Given the description of an element on the screen output the (x, y) to click on. 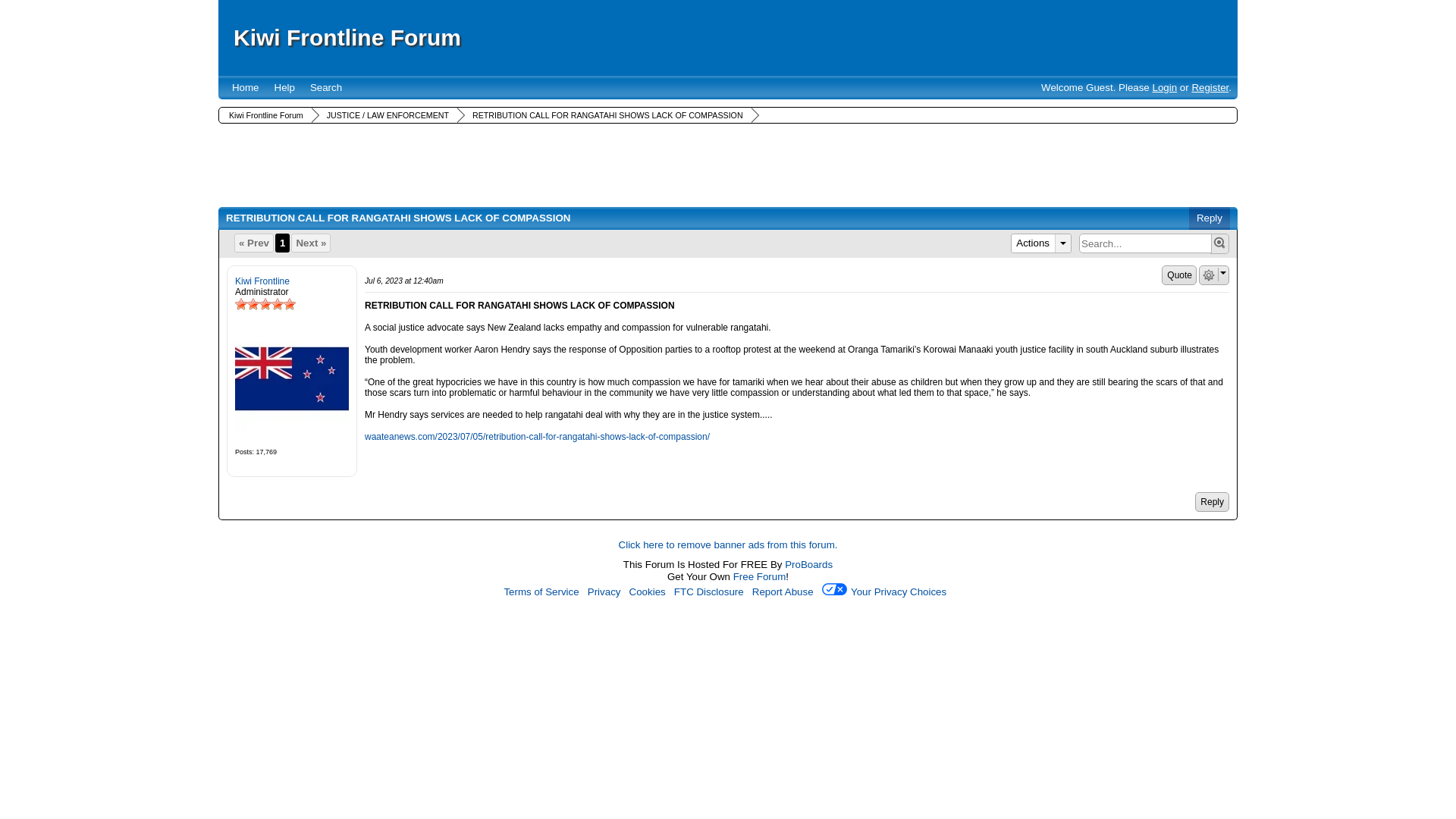
Help (284, 87)
Kiwi Frontline (291, 380)
Post Options (1208, 275)
Kiwi Frontline Forum (346, 37)
Privacy (604, 591)
Your Privacy Choices (887, 591)
Register (1209, 87)
Search (325, 87)
